Given the description of an element on the screen output the (x, y) to click on. 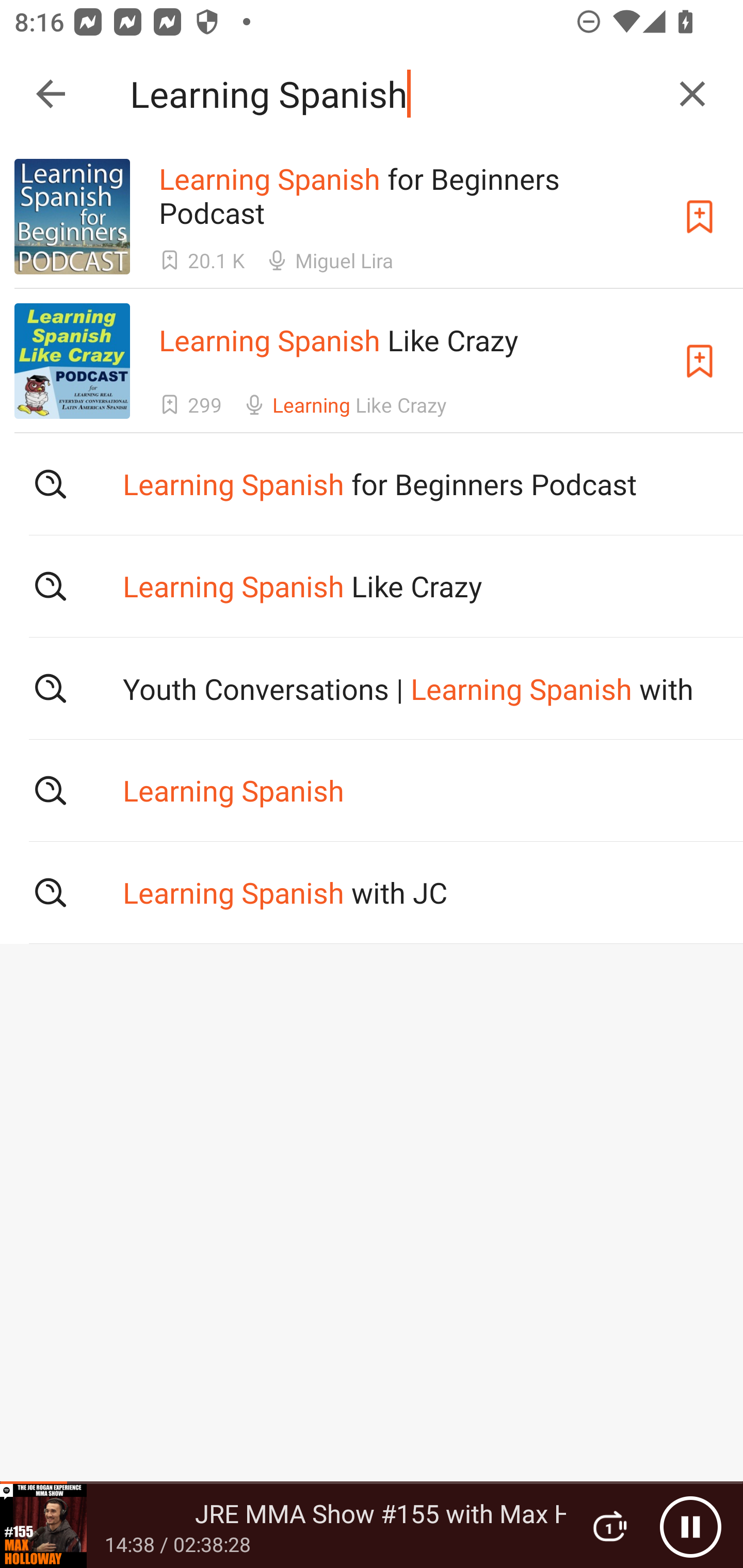
Collapse (50, 93)
Clear query (692, 93)
Learning Spanish (393, 94)
Subscribe (699, 216)
Subscribe (699, 360)
 Learning Spanish for Beginners Podcast (371, 483)
 Learning Spanish Like Crazy (371, 585)
 Learning Spanish (371, 791)
 Learning Spanish with JC (371, 892)
Pause (690, 1526)
